Given the description of an element on the screen output the (x, y) to click on. 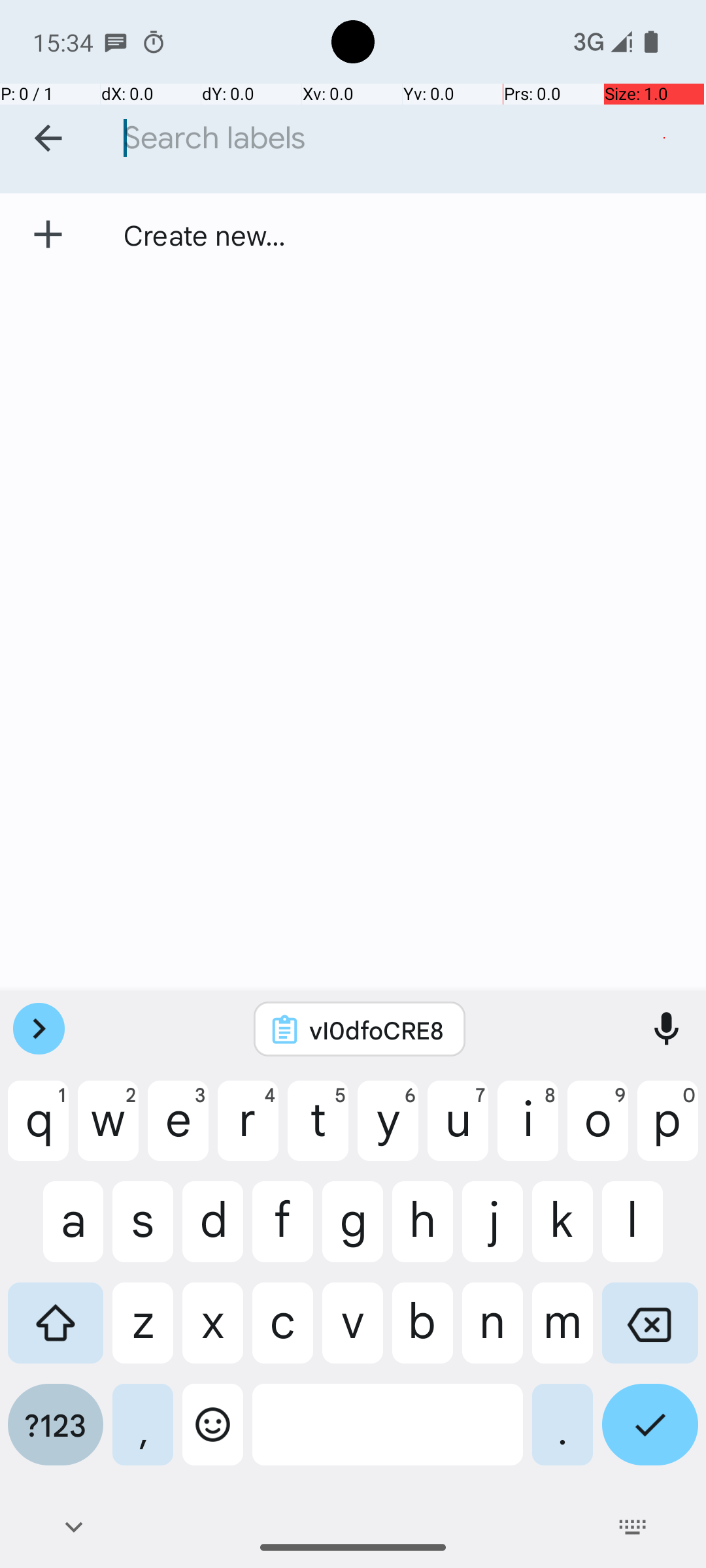
Search labels Element type: android.widget.EditText (407, 138)
Create new… Element type: android.widget.TextView (204, 234)
vI0dfoCRE8 Element type: android.widget.TextView (376, 1029)
SMS Messenger notification: Sophie Gonzalez Element type: android.widget.ImageView (115, 41)
